Given the description of an element on the screen output the (x, y) to click on. 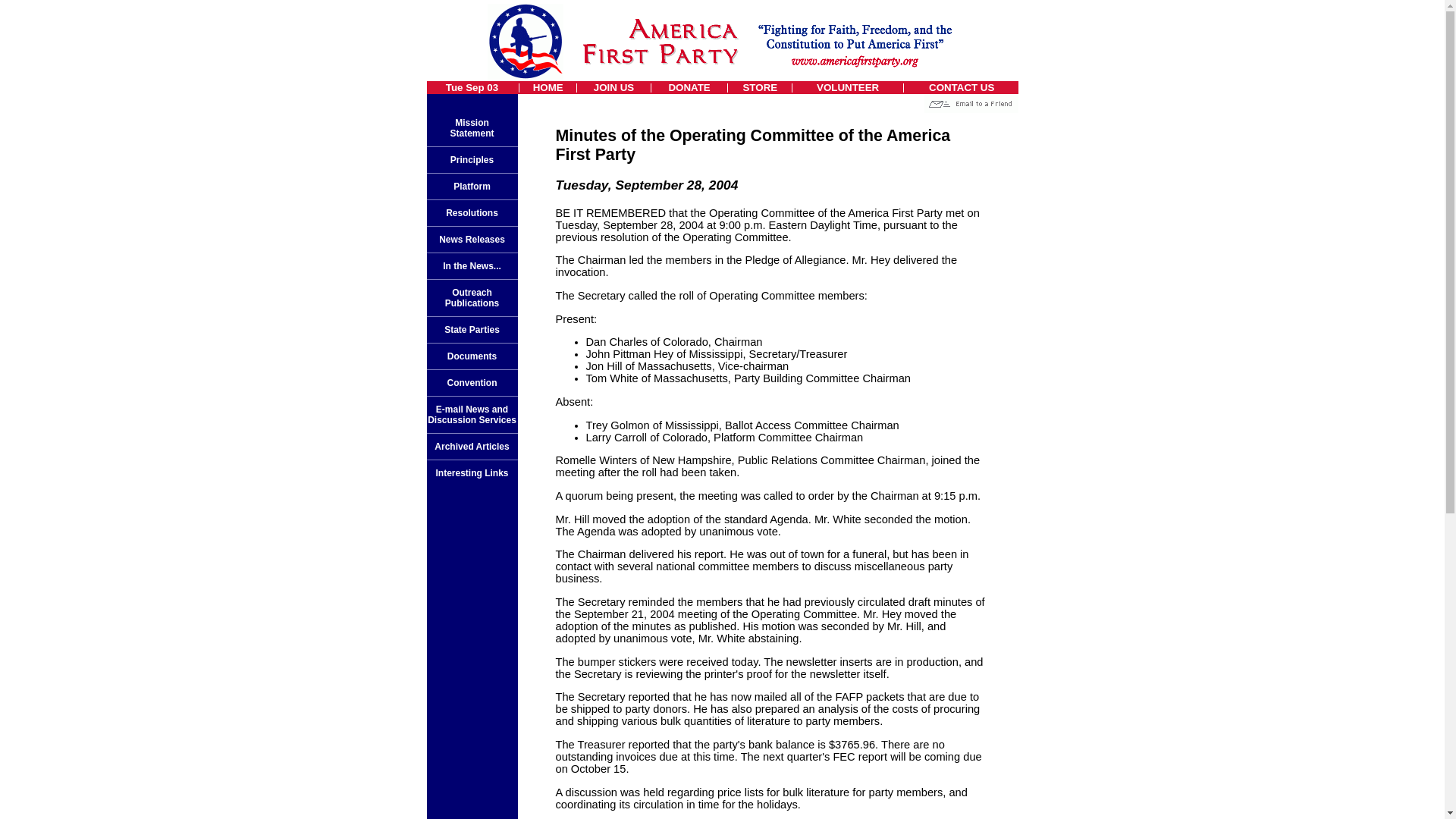
Archived Articles (470, 446)
Principles (471, 159)
DONATE (689, 87)
HOME (547, 87)
Interesting Links (471, 472)
Platform (471, 185)
CONTACT US (961, 87)
STORE (759, 87)
In the News... (471, 266)
News Releases (472, 239)
